Given the description of an element on the screen output the (x, y) to click on. 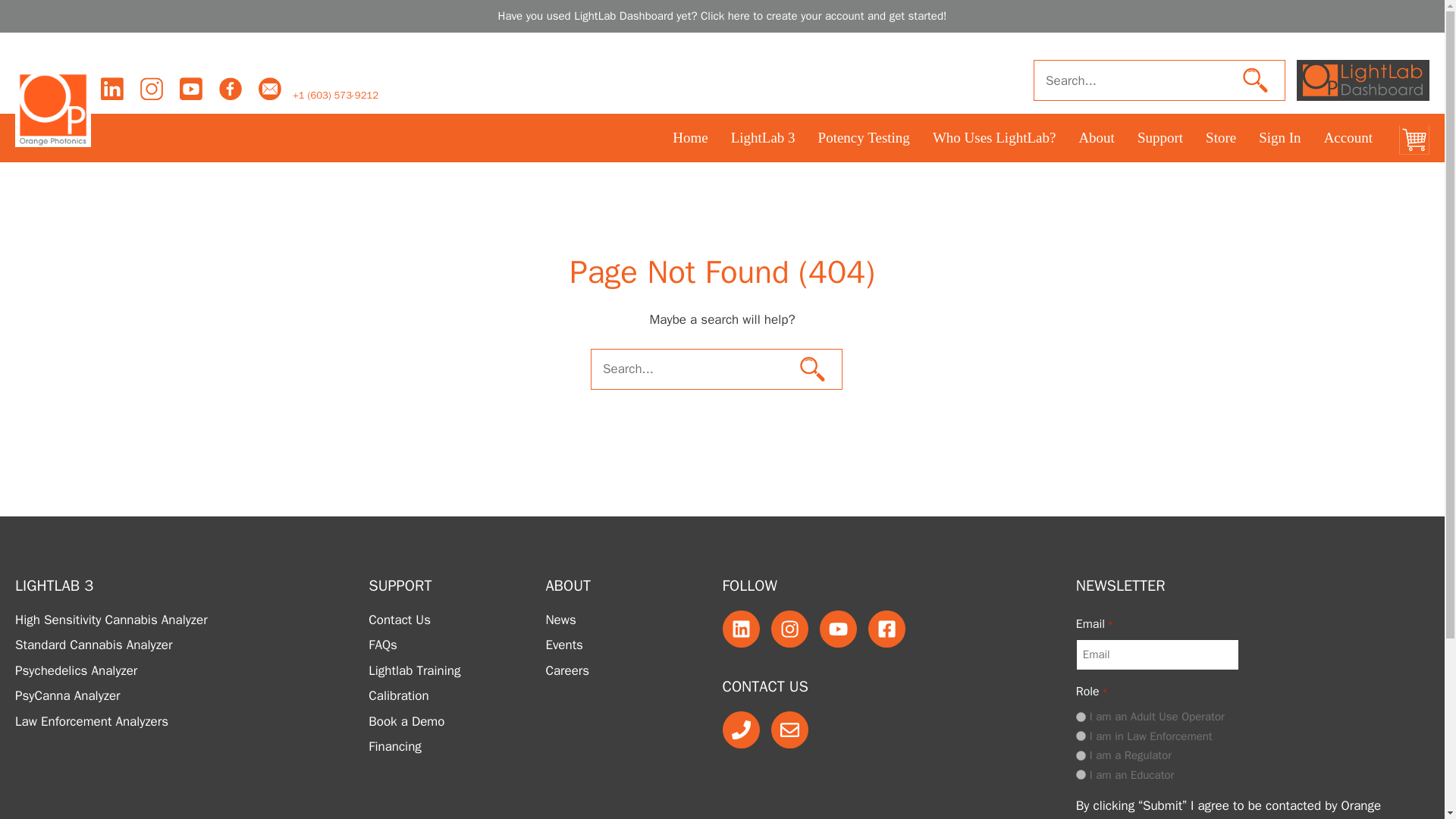
Facebook Icon Website (230, 89)
Instagram Icon Website (151, 89)
Email Icon Website (269, 89)
Law Enforcement (1080, 736)
Regulator (1080, 755)
Click here to create your account and get started! (823, 15)
Educator (1080, 774)
YouTube Icon Website (191, 89)
LinkedIn Icon Website (112, 89)
OP-Square-Logo-White-240px-wide (52, 108)
Adult Use (1080, 716)
